Given the description of an element on the screen output the (x, y) to click on. 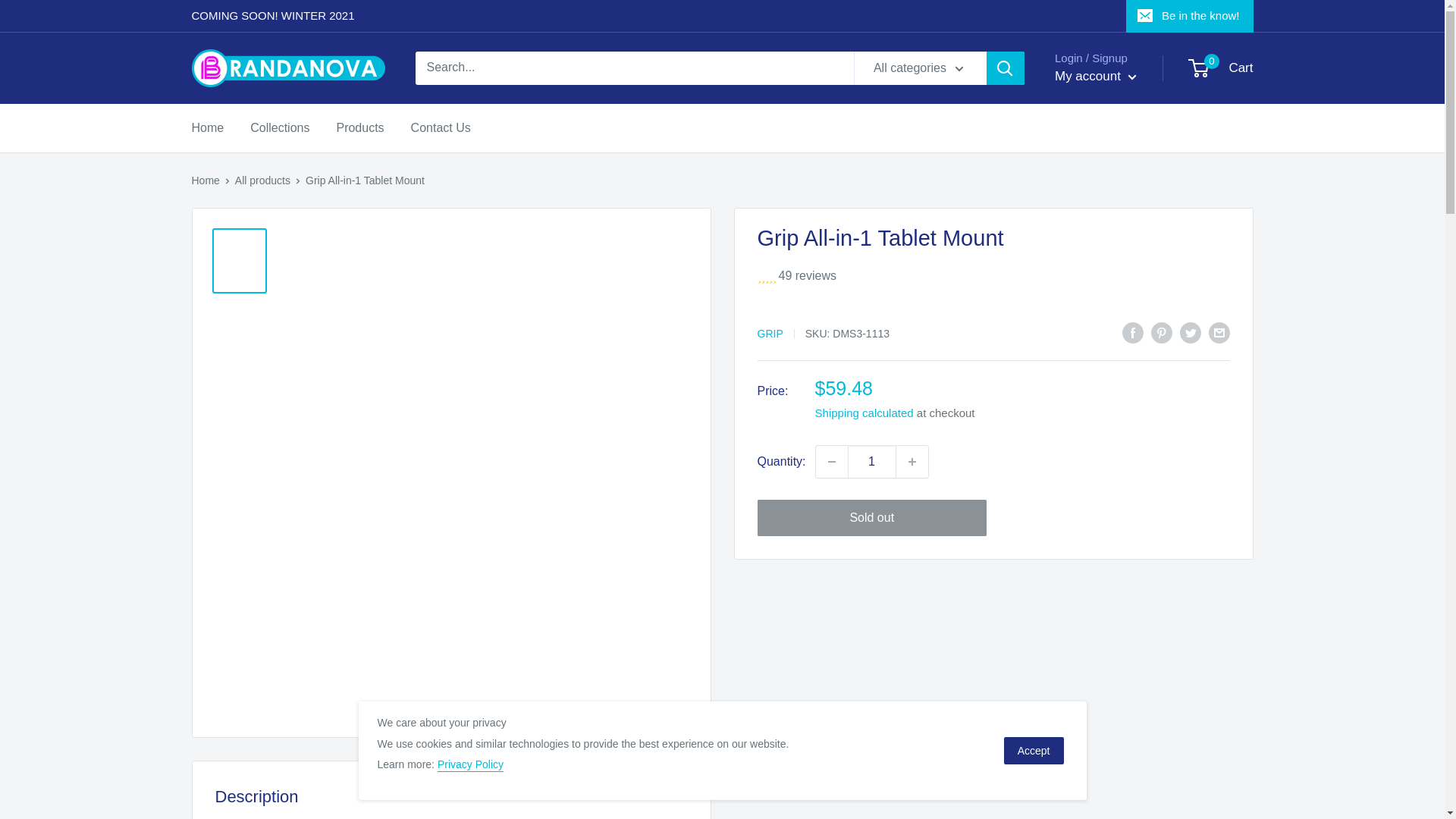
1 (871, 461)
Be in the know! (1189, 15)
Decrease quantity by 1 (831, 461)
Home (1221, 68)
All products (204, 180)
Contact Us (261, 180)
Collections (440, 128)
Increase quantity by 1 (279, 128)
Privacy Policy (912, 461)
